Given the description of an element on the screen output the (x, y) to click on. 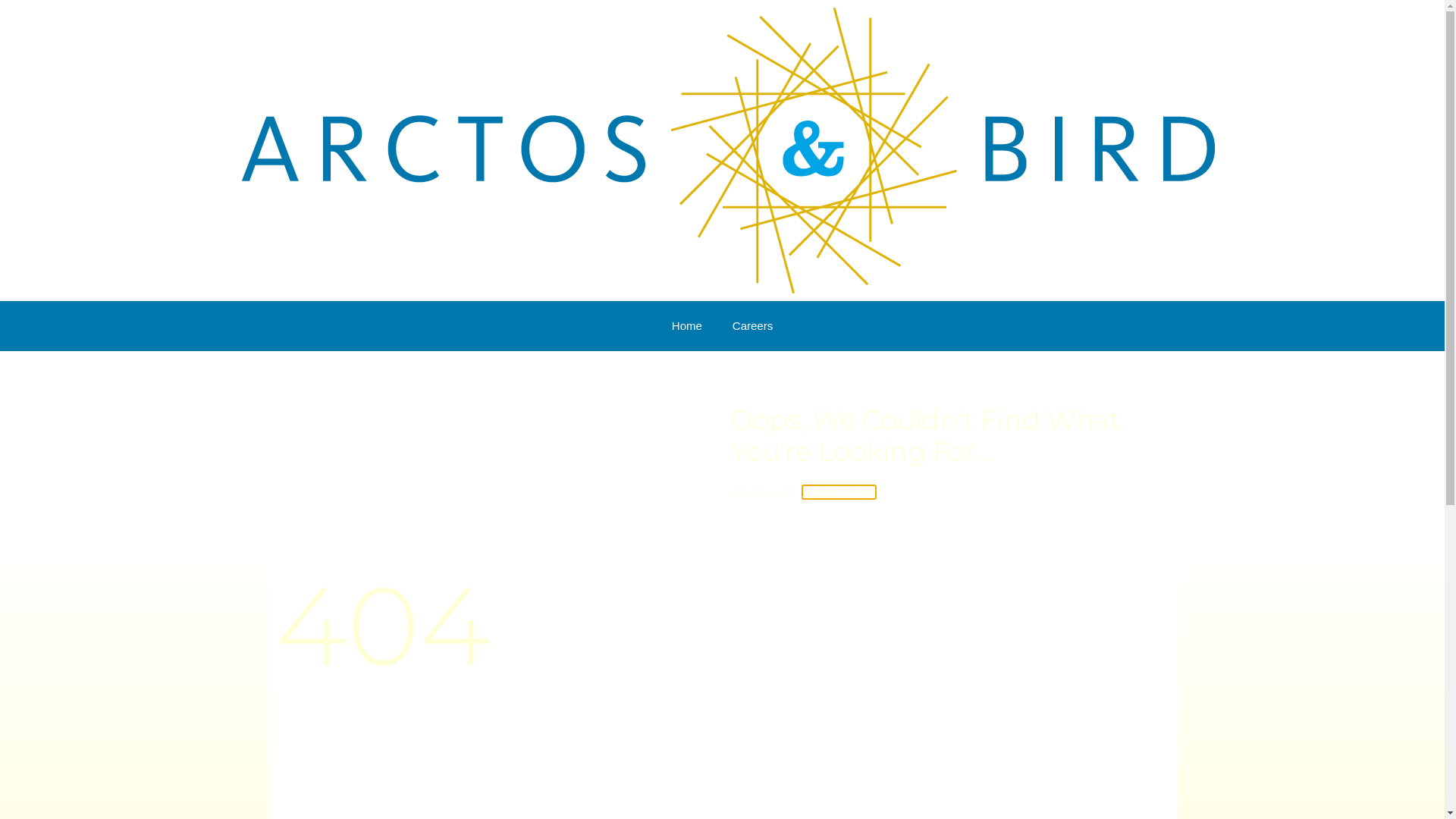
A-cmyk Element type: hover (727, 150)
Home Element type: text (686, 325)
Home Page Element type: text (837, 491)
Careers Element type: text (752, 325)
